Given the description of an element on the screen output the (x, y) to click on. 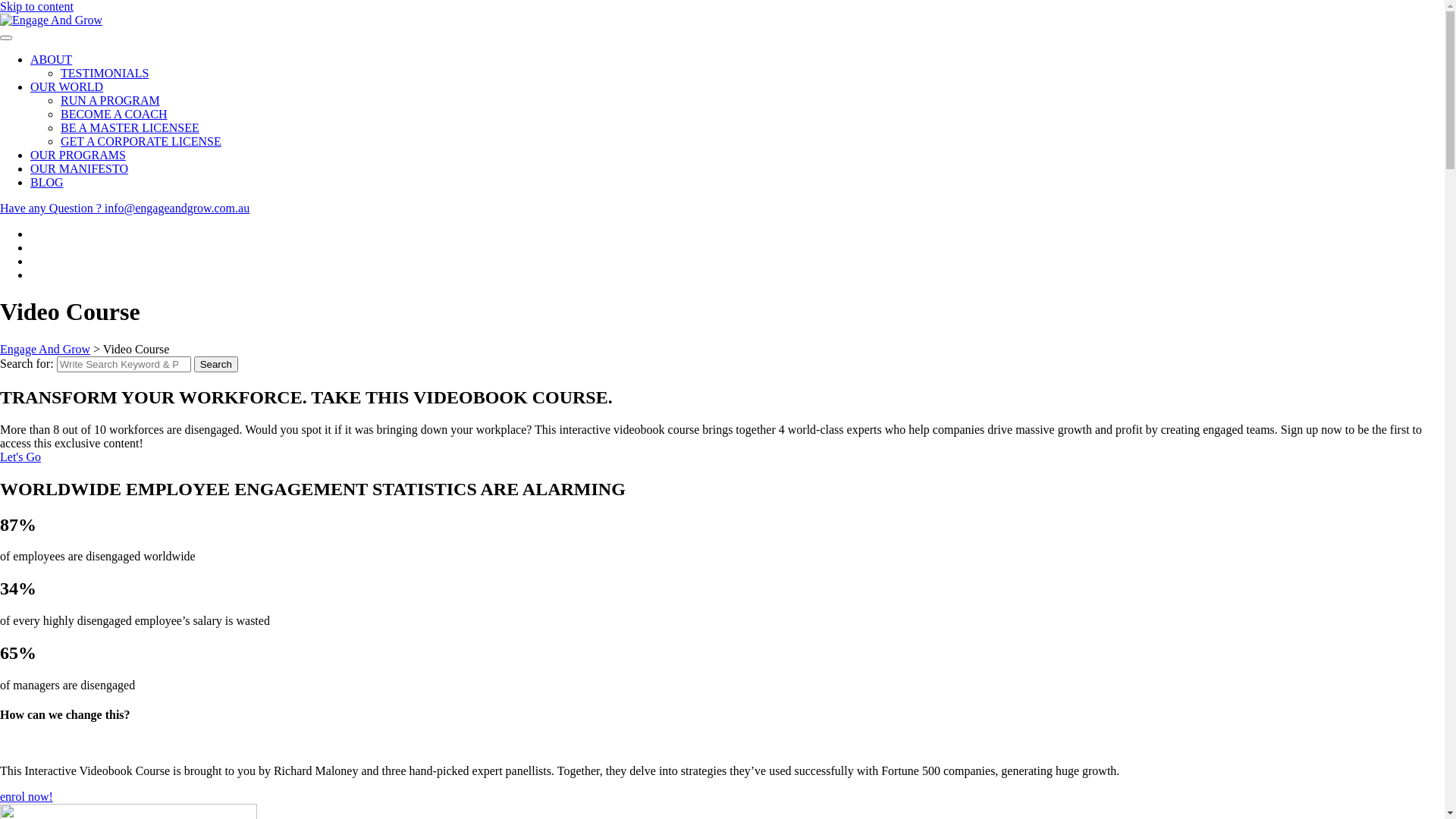
ABOUT Element type: text (51, 59)
Search Element type: text (216, 364)
OUR MANIFESTO Element type: text (79, 168)
BLOG Element type: text (46, 181)
GET A CORPORATE LICENSE Element type: text (140, 140)
Engage And Grow Element type: hover (51, 20)
OUR PROGRAMS Element type: text (77, 154)
Let's Go Element type: text (20, 456)
RUN A PROGRAM Element type: text (110, 100)
OUR WORLD Element type: text (66, 86)
BECOME A COACH Element type: text (113, 113)
Have any Question ? info@engageandgrow.com.au Element type: text (124, 207)
TESTIMONIALS Element type: text (104, 72)
enrol now! Element type: text (26, 796)
BE A MASTER LICENSEE Element type: text (129, 127)
Skip to content Element type: text (36, 6)
Engage And Grow Element type: text (45, 348)
